Given the description of an element on the screen output the (x, y) to click on. 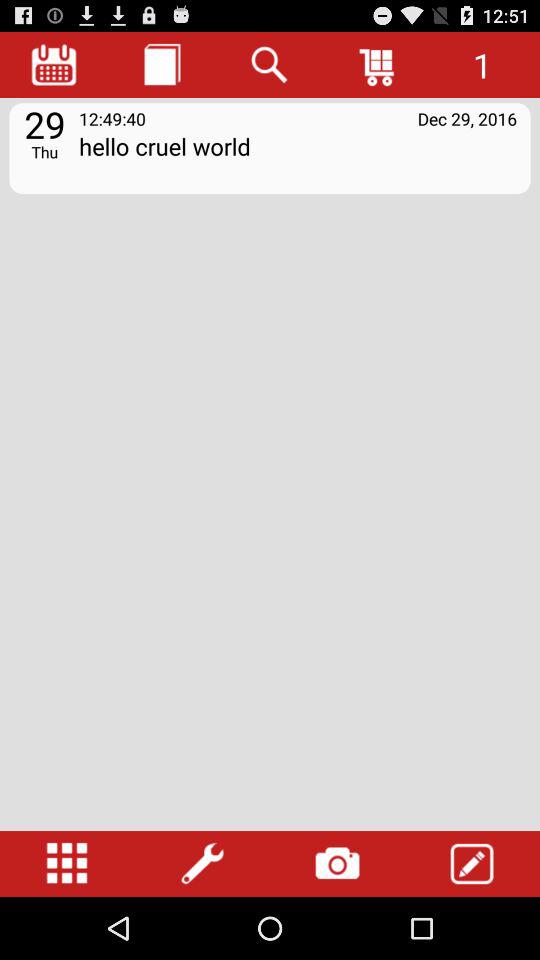
press item to the right of 29 (112, 118)
